Given the description of an element on the screen output the (x, y) to click on. 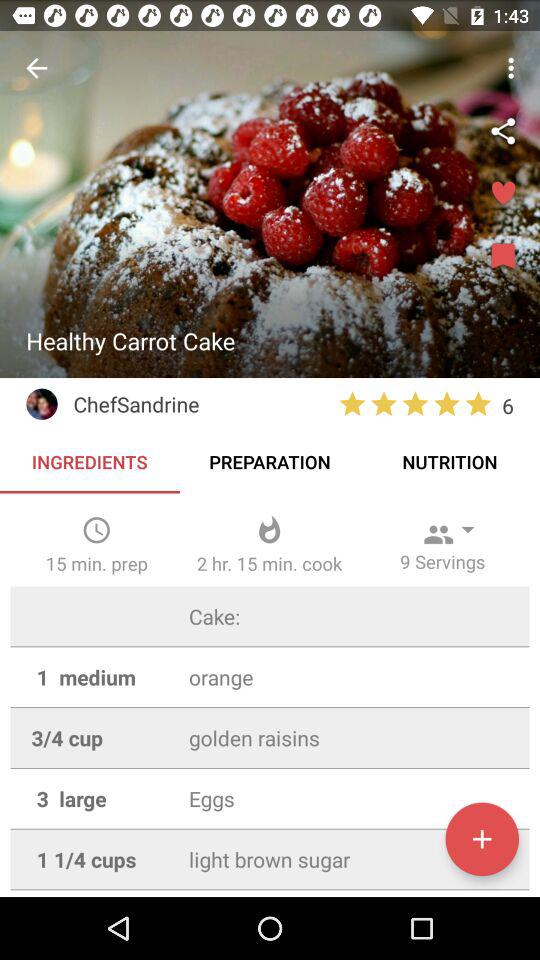
incrediable of the file (482, 839)
